Given the description of an element on the screen output the (x, y) to click on. 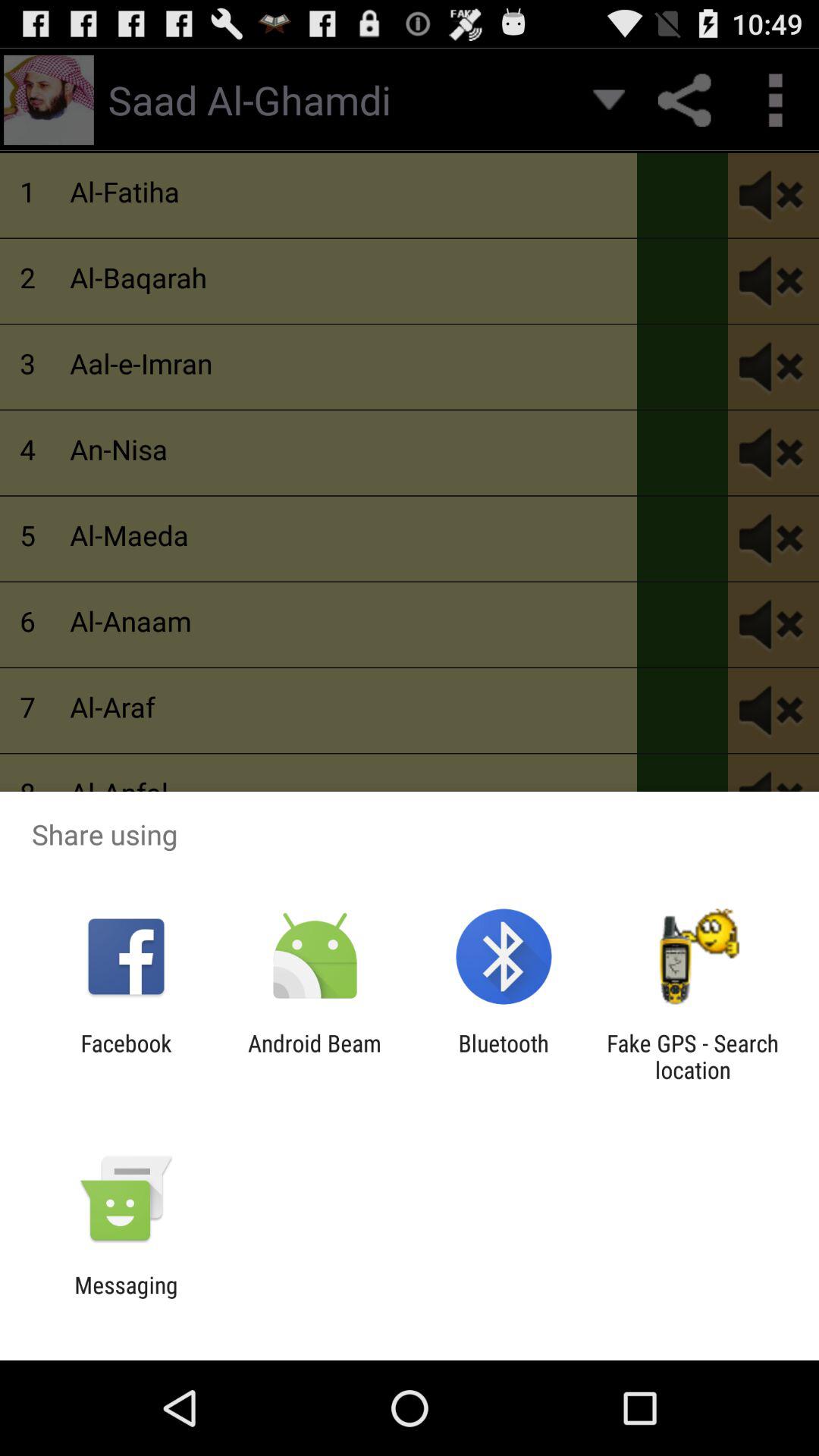
turn off facebook icon (125, 1056)
